Given the description of an element on the screen output the (x, y) to click on. 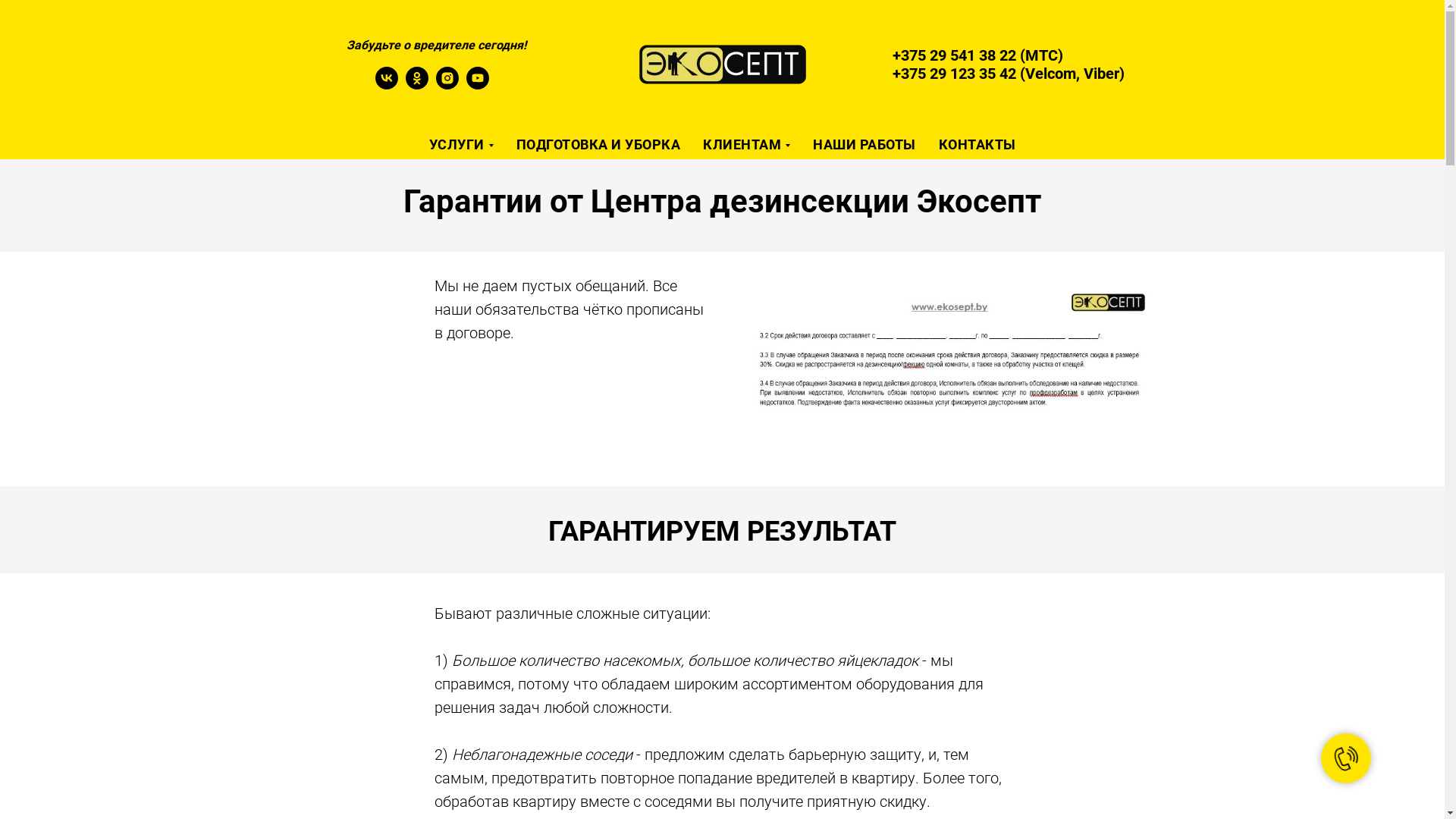
+375 29 123 35 42 Element type: text (954, 73)
+375 29 541 38 22 Element type: text (954, 55)
